Given the description of an element on the screen output the (x, y) to click on. 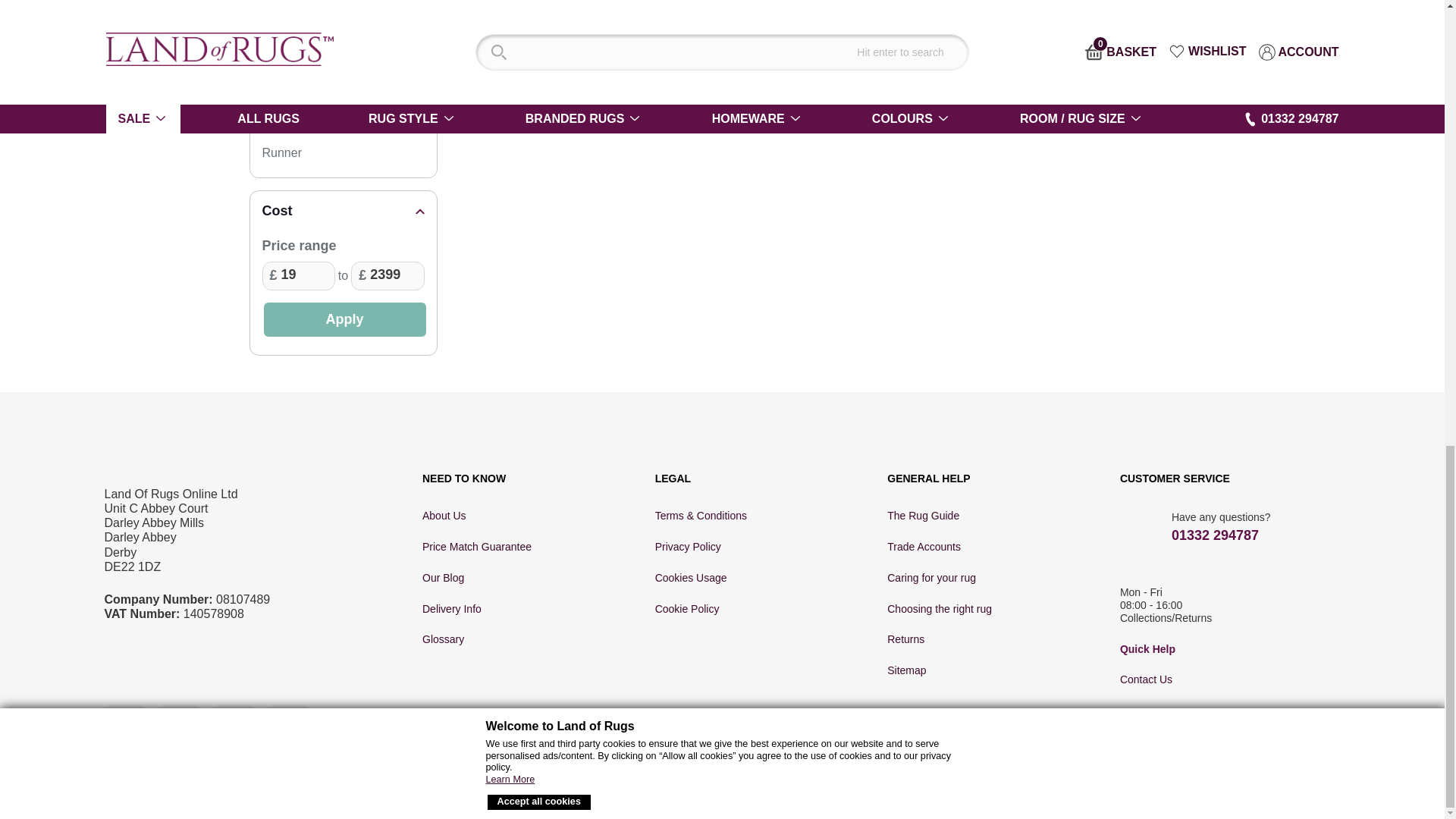
2399 (386, 275)
19 (298, 275)
